Given the description of an element on the screen output the (x, y) to click on. 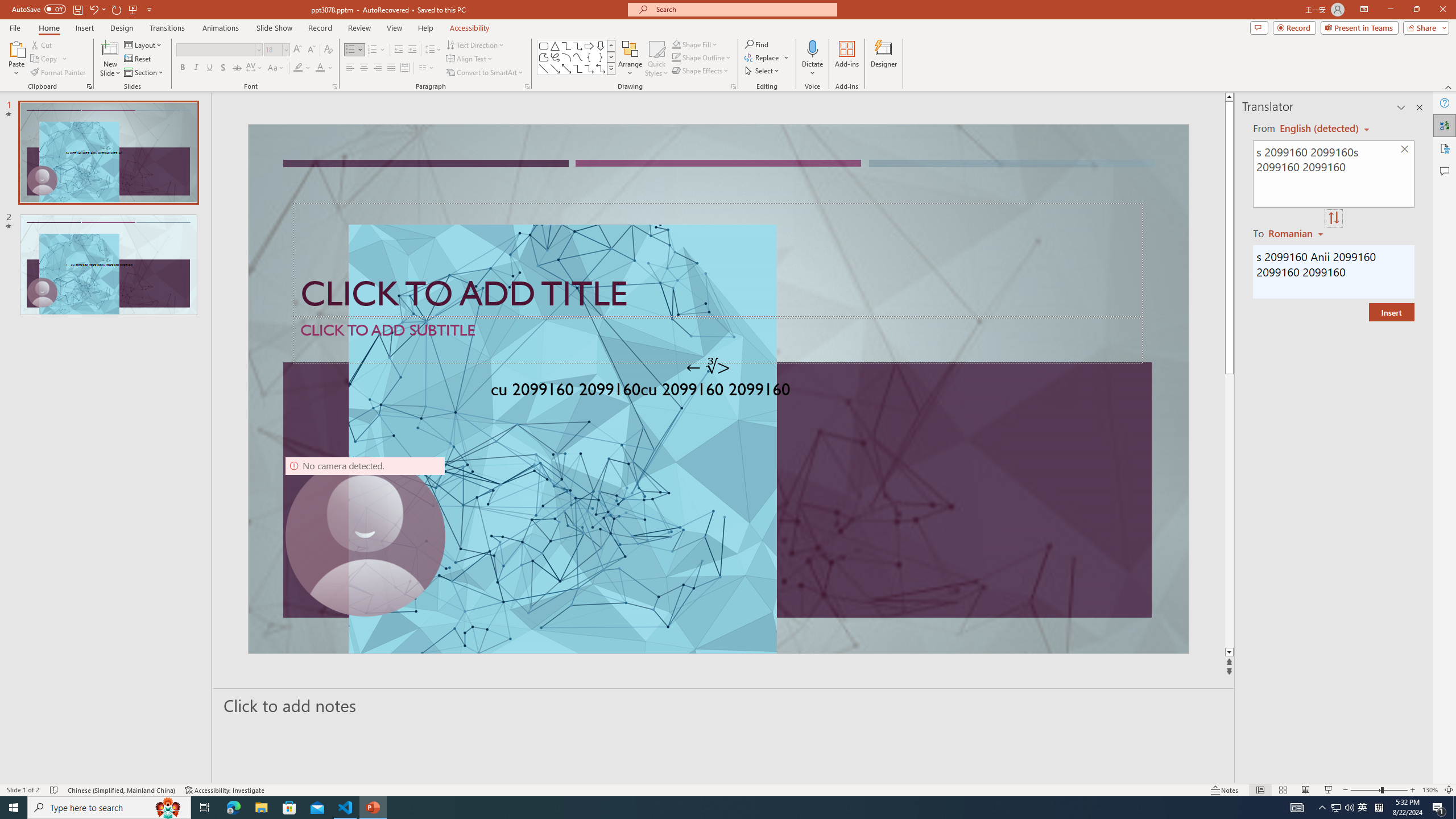
Shape Outline Green, Accent 1 (675, 56)
TextBox 7 (708, 367)
